Given the description of an element on the screen output the (x, y) to click on. 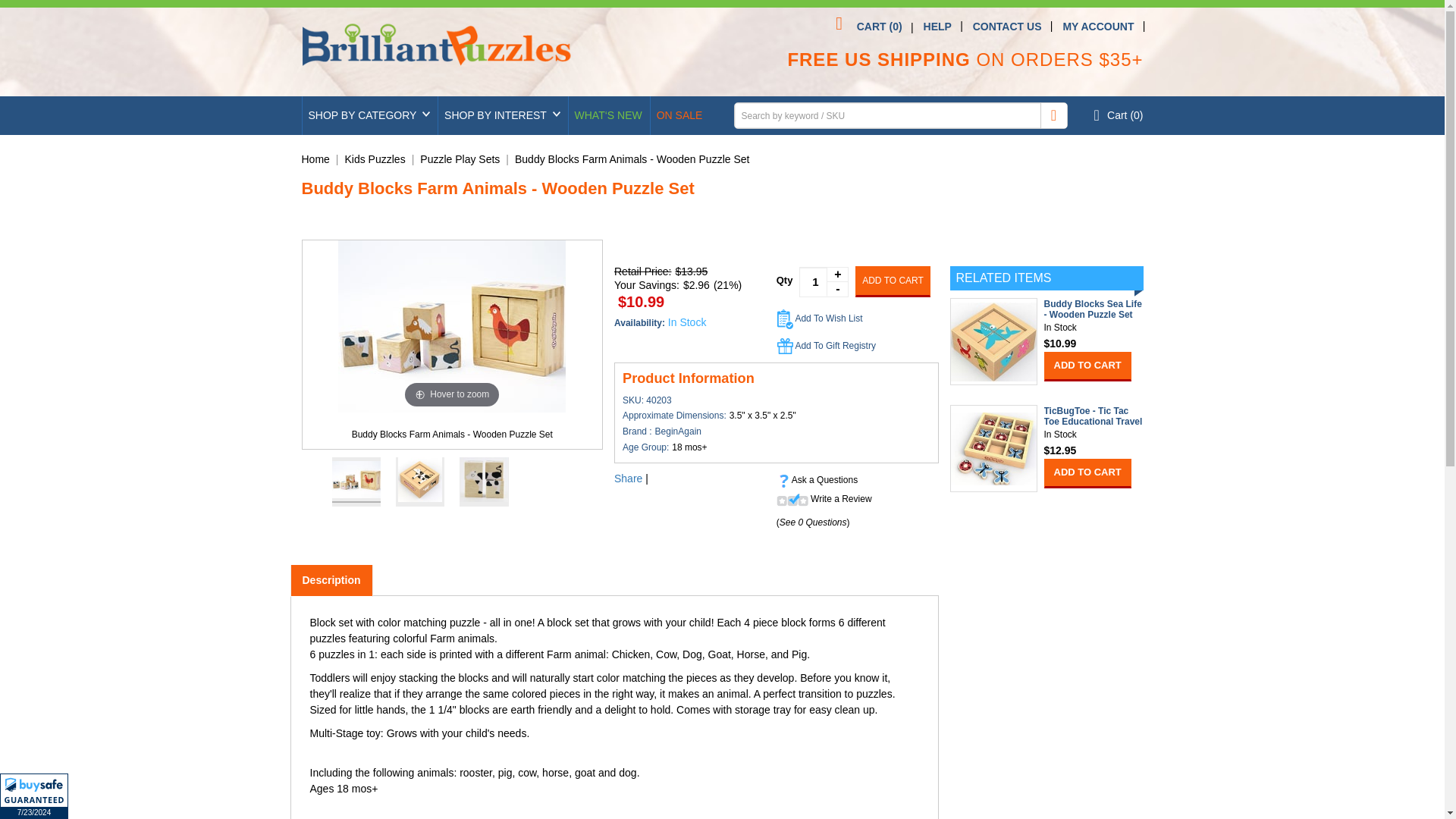
CONTACT US (1007, 26)
1 (823, 281)
Unused iFrame 1 (34, 796)
Shop By Category (369, 115)
MY ACCOUNT (1098, 26)
HELP (937, 26)
SHOP BY CATEGORY (369, 115)
